Given the description of an element on the screen output the (x, y) to click on. 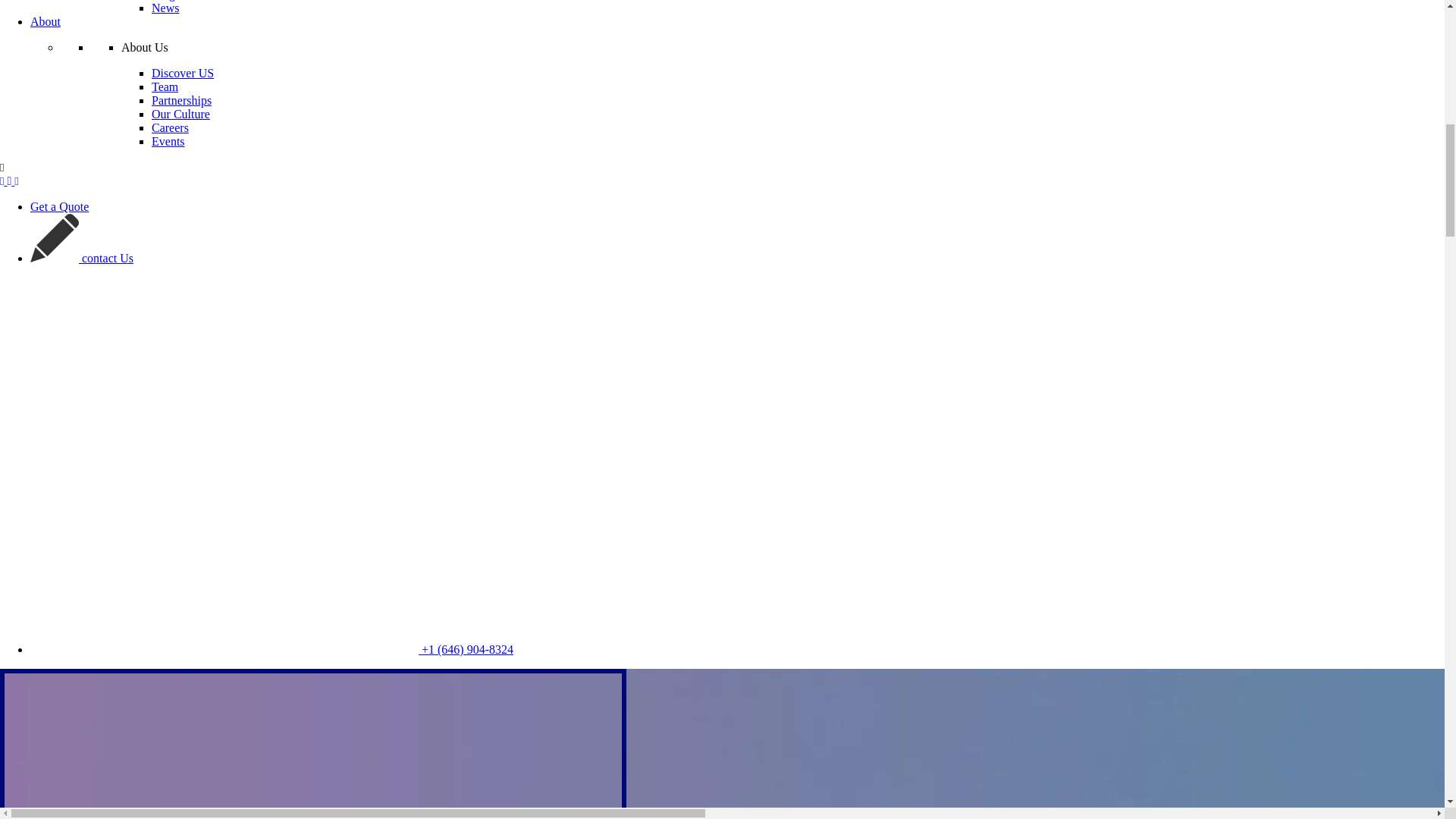
Team (164, 86)
About (45, 21)
Partnerships (181, 100)
Discover US (182, 72)
Events (167, 141)
Our Culture (180, 113)
Careers (170, 127)
News (165, 7)
